Given the description of an element on the screen output the (x, y) to click on. 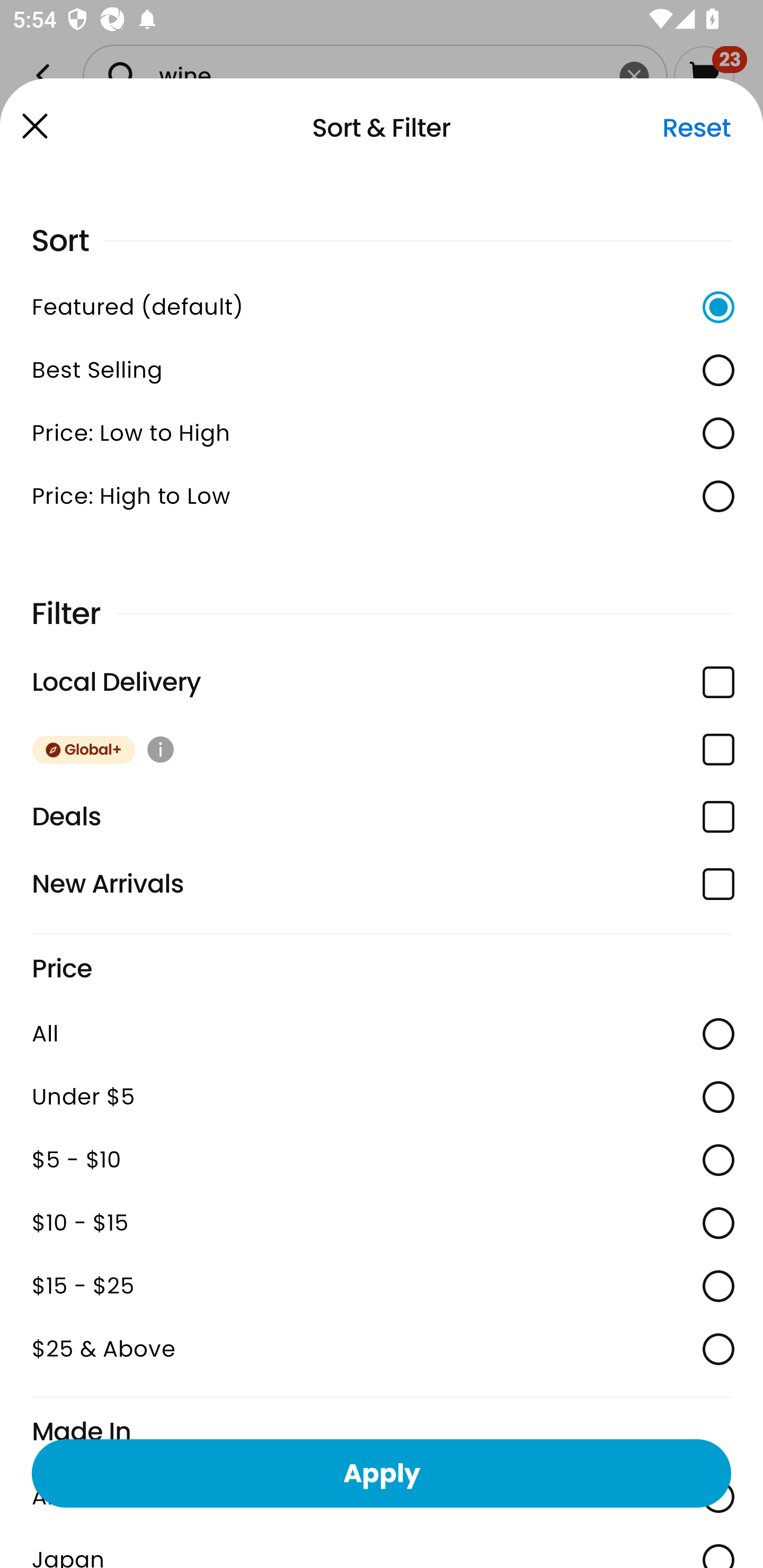
Reset (696, 127)
Apply (381, 1472)
